Given the description of an element on the screen output the (x, y) to click on. 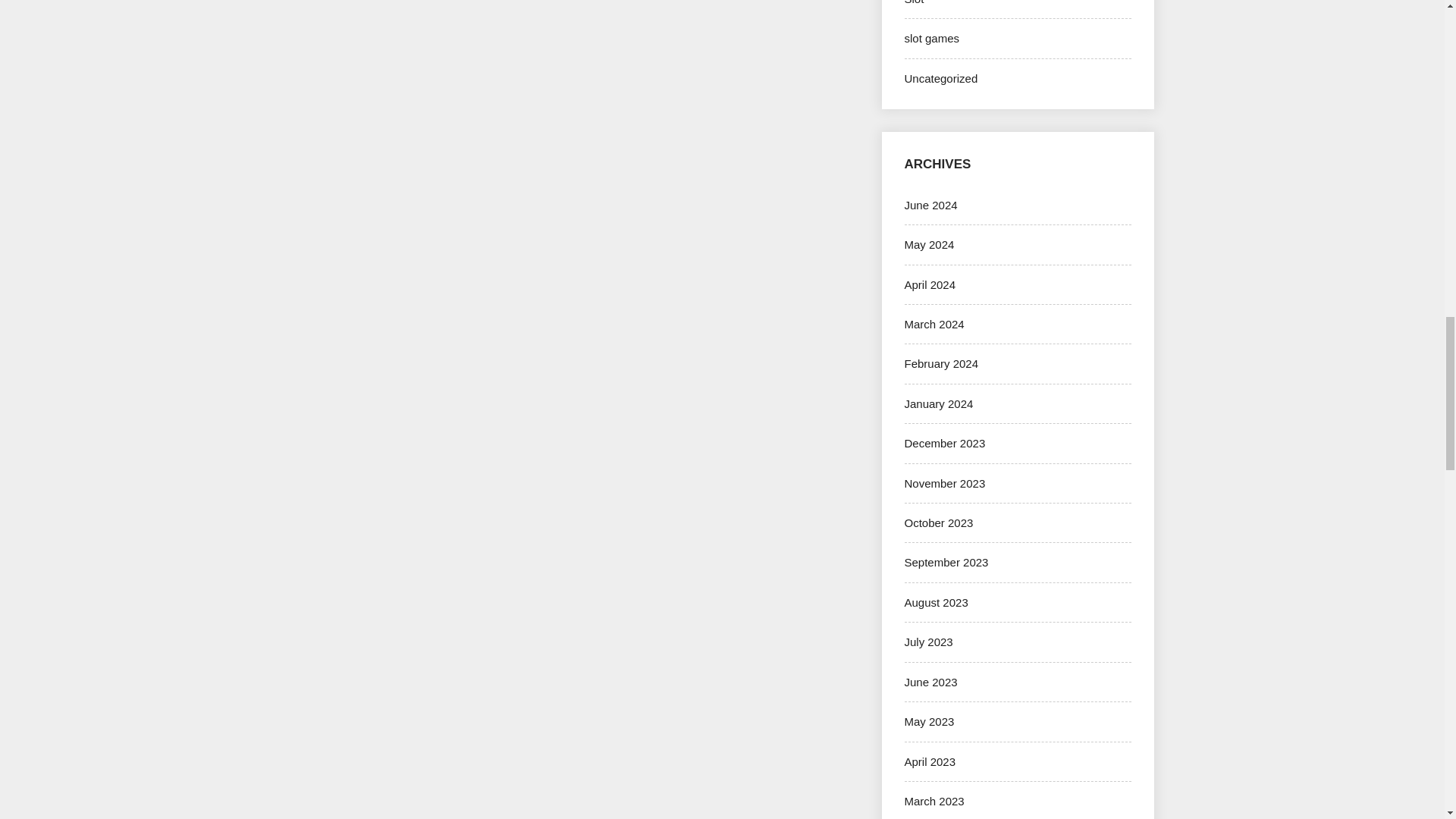
Slot (913, 2)
